Given the description of an element on the screen output the (x, y) to click on. 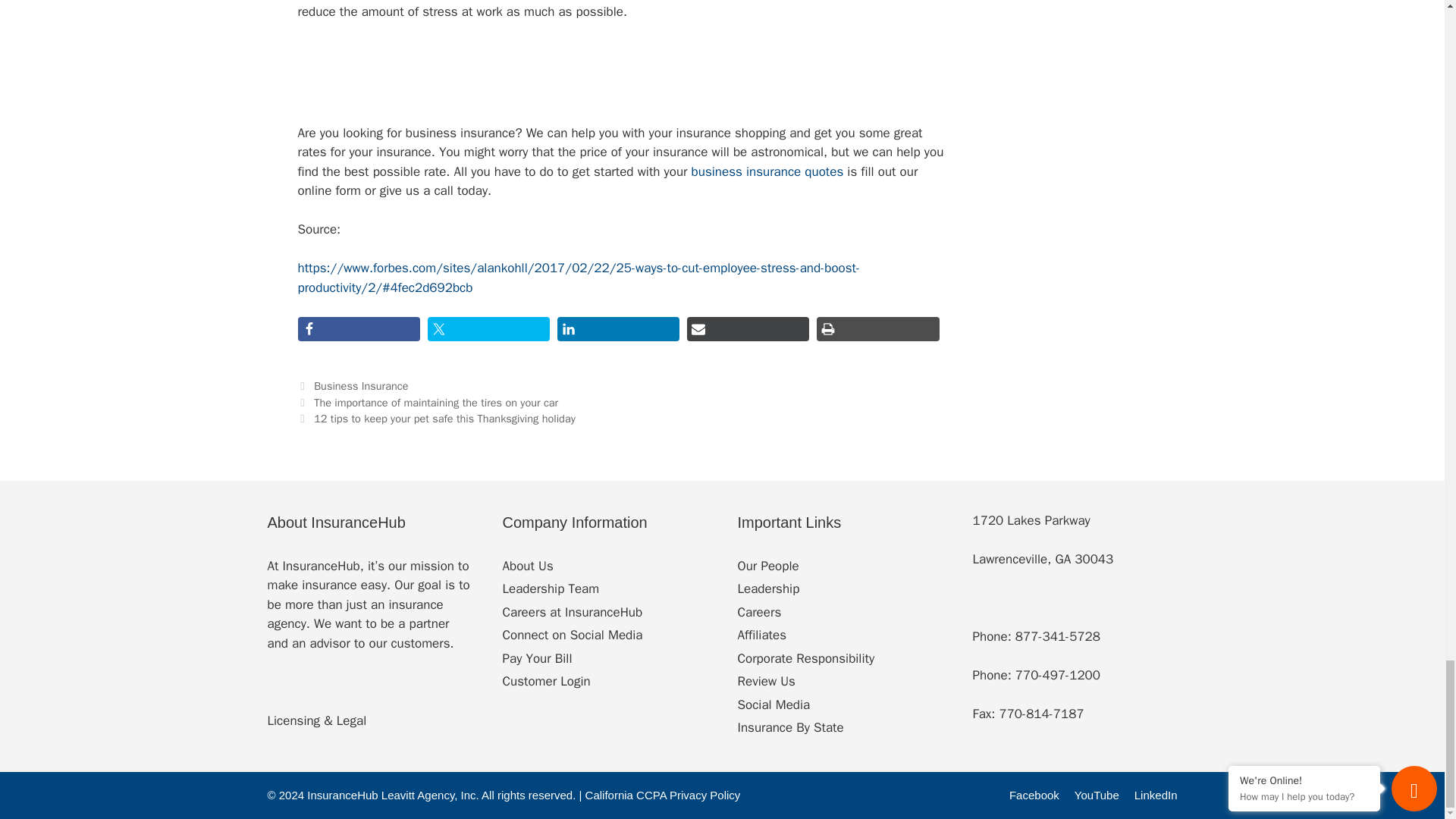
Share on LinkedIn (618, 328)
Print this Page (877, 328)
Share on Twitter (489, 328)
Share via Email (748, 328)
Share on Facebook (358, 328)
